Given the description of an element on the screen output the (x, y) to click on. 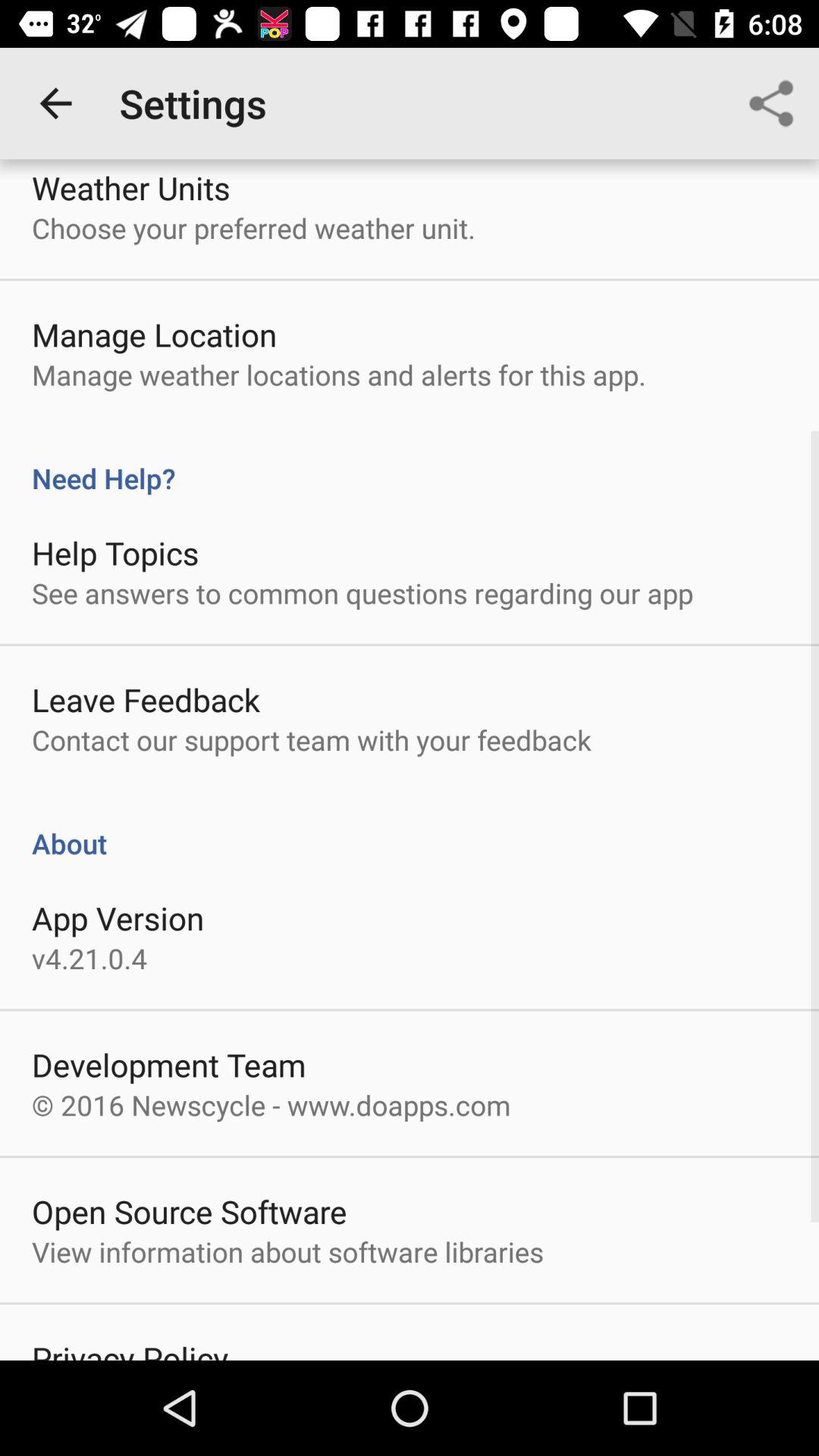
choose see answers to (362, 592)
